Given the description of an element on the screen output the (x, y) to click on. 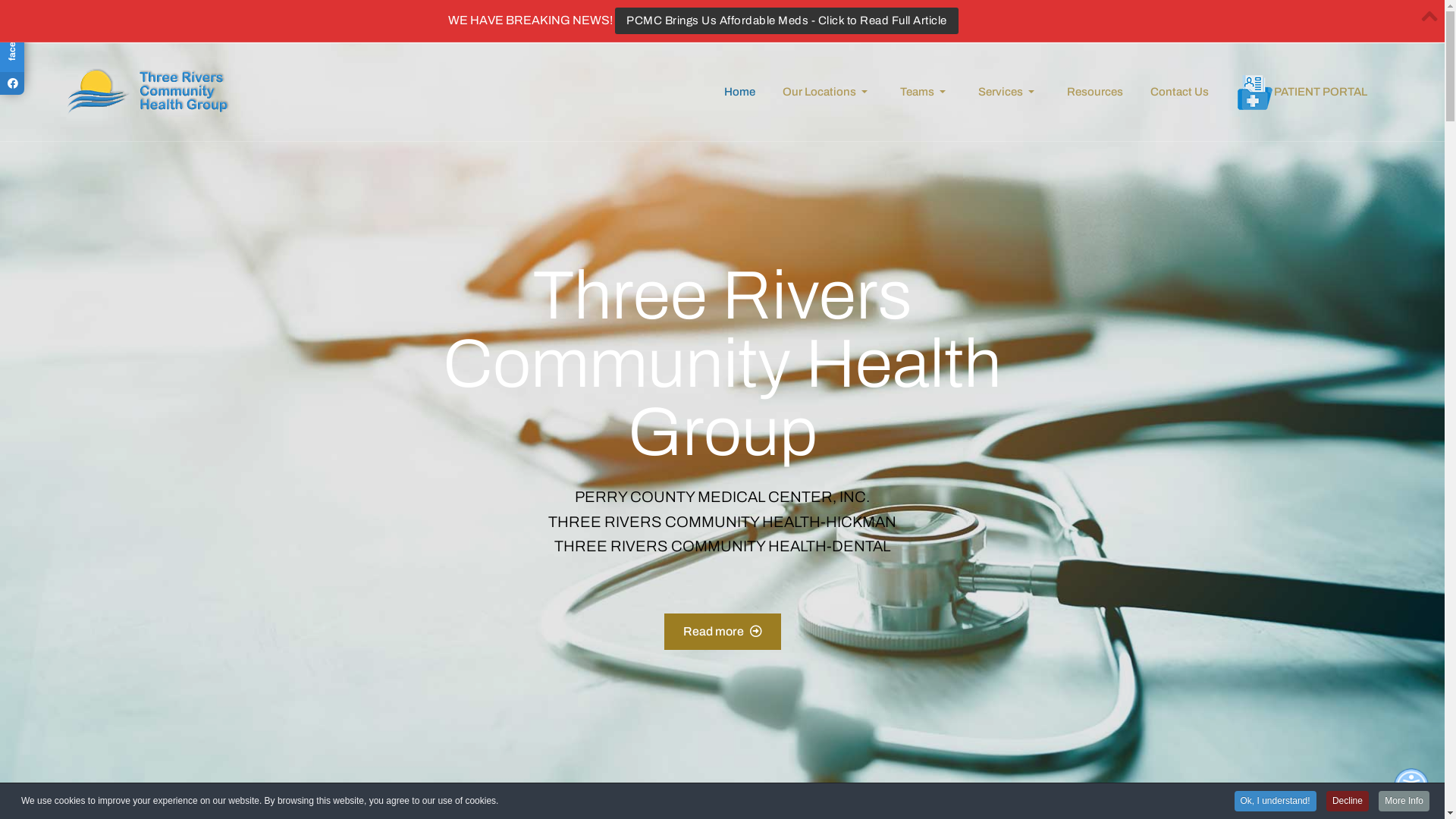
Services Element type: text (1008, 91)
Ok, I understand! Element type: text (1275, 800)
Contact Us Element type: text (1179, 91)
Decline Element type: text (1347, 800)
Resources Element type: text (1094, 91)
Home Element type: text (739, 91)
PATIENT PORTAL Element type: text (1301, 91)
PCMC Brings Us Affordable Meds - Click to Read Full Article Element type: text (786, 20)
More Info Element type: text (1403, 800)
Read more Element type: text (722, 630)
Three Rivers Community Health Group Element type: hover (149, 91)
Open accessibility tools Element type: hover (1411, 785)
Teams Element type: text (925, 91)
Our Locations Element type: text (827, 91)
